Given the description of an element on the screen output the (x, y) to click on. 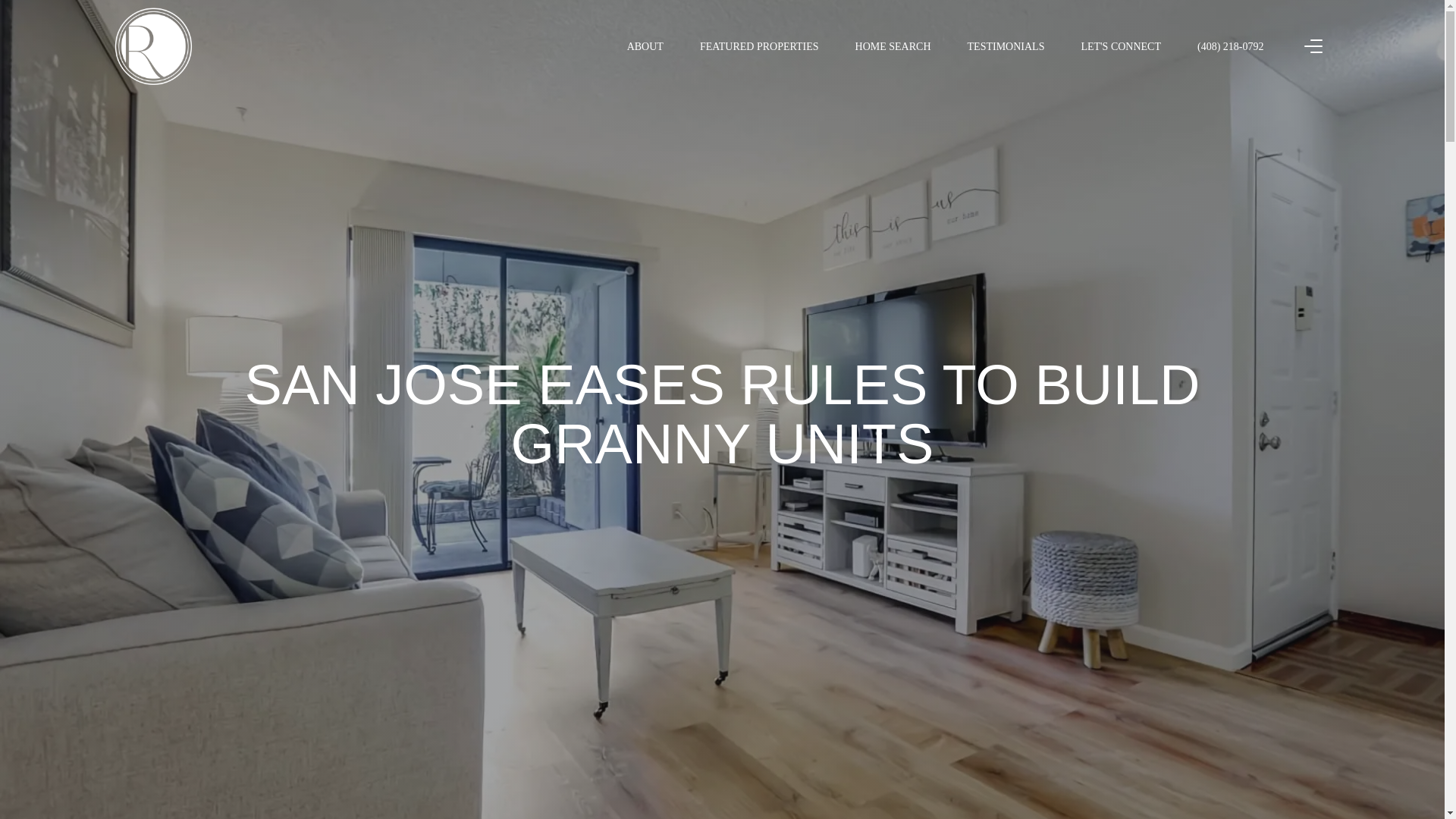
LET'S CONNECT (1120, 46)
HOME SEARCH (893, 46)
FEATURED PROPERTIES (759, 46)
ABOUT (645, 46)
TESTIMONIALS (1006, 46)
